Given the description of an element on the screen output the (x, y) to click on. 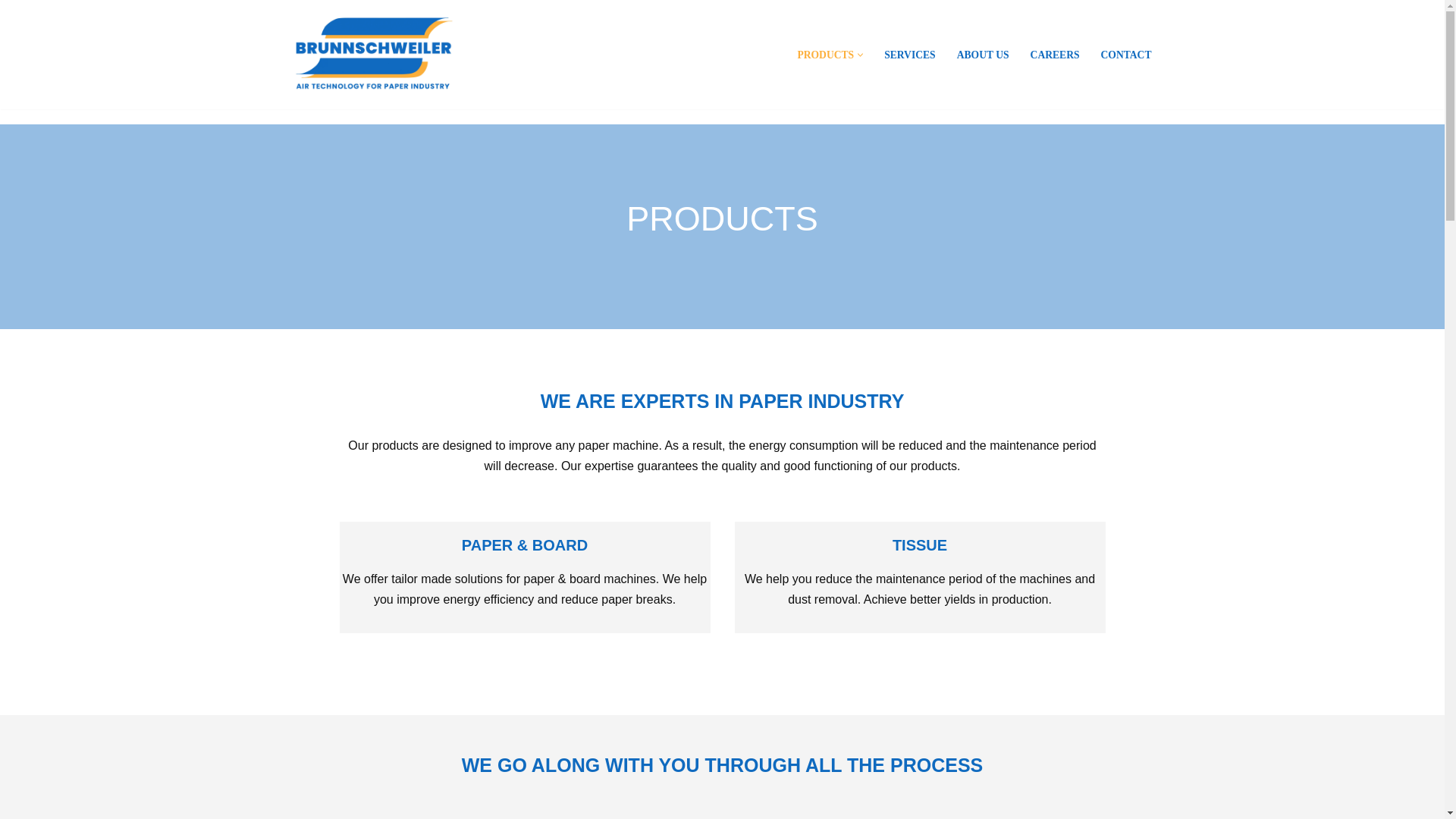
PRODUCTS (824, 54)
Saltar al contenido (11, 31)
